Given the description of an element on the screen output the (x, y) to click on. 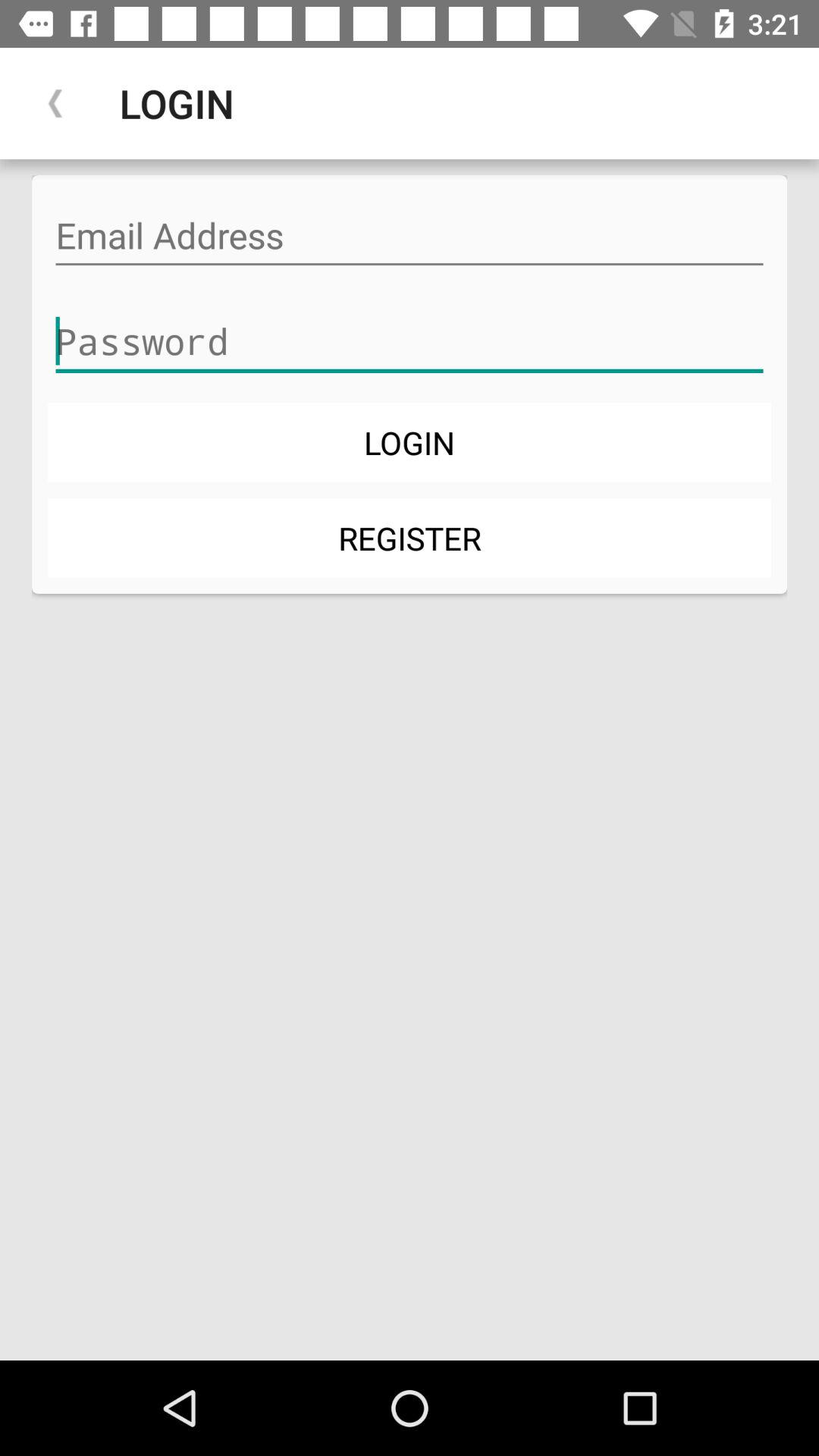
turn off register item (409, 537)
